Given the description of an element on the screen output the (x, y) to click on. 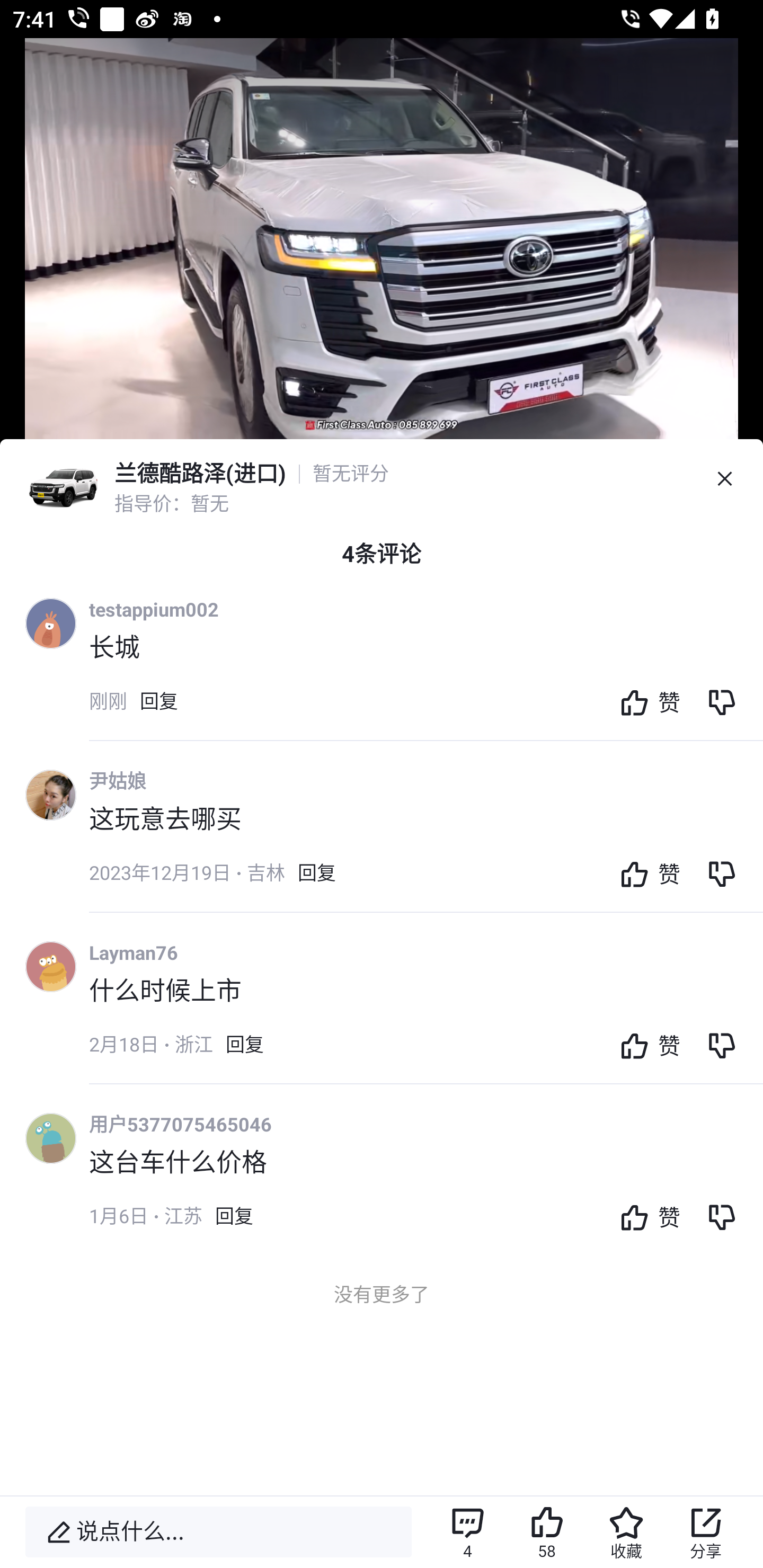
兰德酷路泽(进口) 暂无评分 指导价：暂无 (381, 479)
testappium002 长城 刚刚 回复 赞 (426, 667)
testappium002 (153, 609)
赞 (645, 701)
尹姑娘 这玩意去哪买 2023年12月19日 < >吉林 回复 赞 (426, 838)
尹姑娘 (117, 780)
赞 (645, 873)
Layman76 什么时候上市 2月18日 < >浙江 回复 赞 (426, 1010)
Layman76 (133, 952)
赞 (645, 1044)
用户5377075465046 这台车什么价格 1月6日 < >江苏 回复 赞 (426, 1182)
用户5377075465046 (180, 1124)
赞 (645, 1216)
 4 (467, 1531)
58 (546, 1531)
收藏 (625, 1531)
 分享 (705, 1531)
 说点什么... (218, 1531)
